Given the description of an element on the screen output the (x, y) to click on. 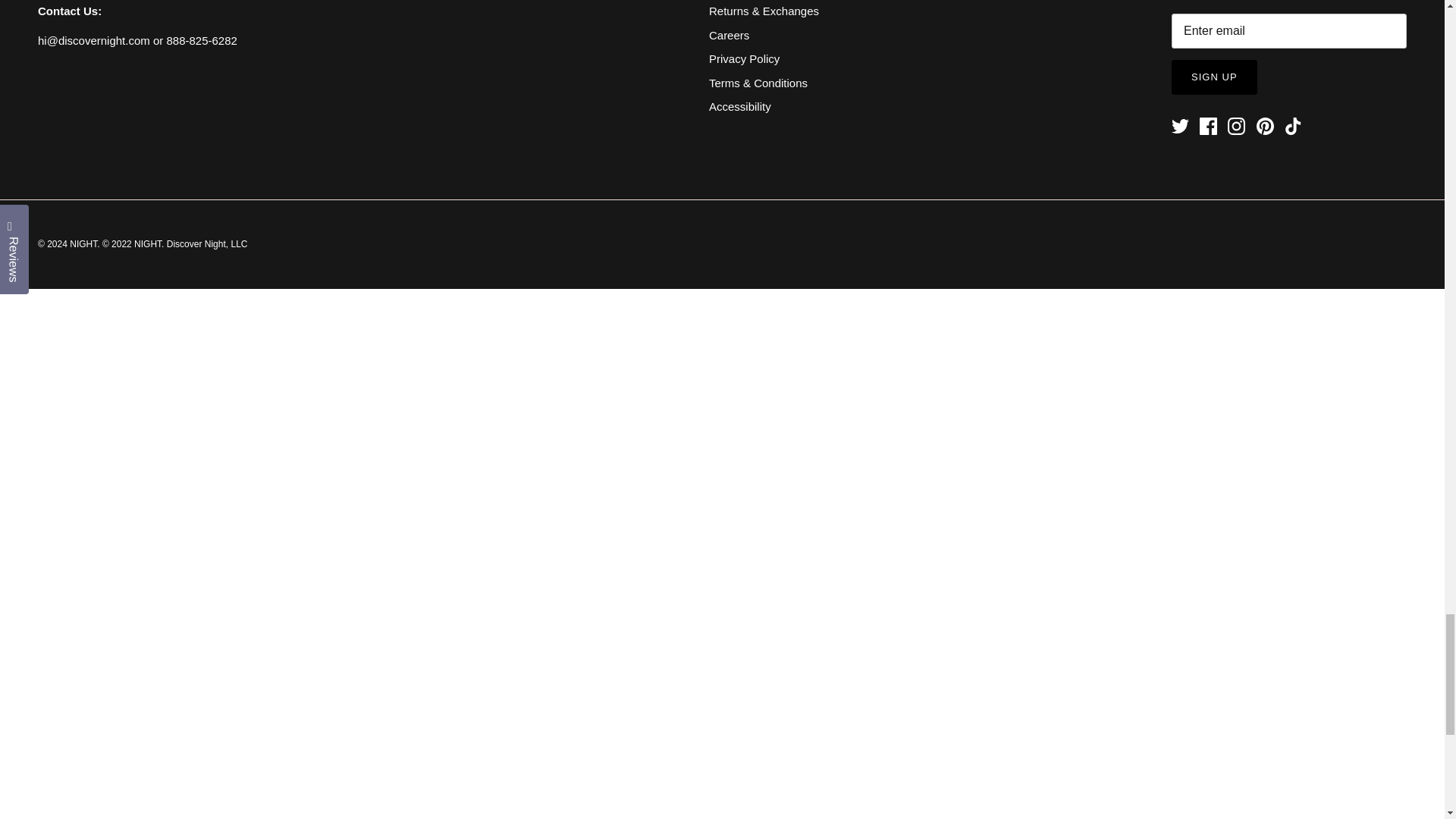
Twitter (1180, 126)
Pinterest (1263, 126)
Facebook (1208, 126)
Instagram (1235, 126)
